Given the description of an element on the screen output the (x, y) to click on. 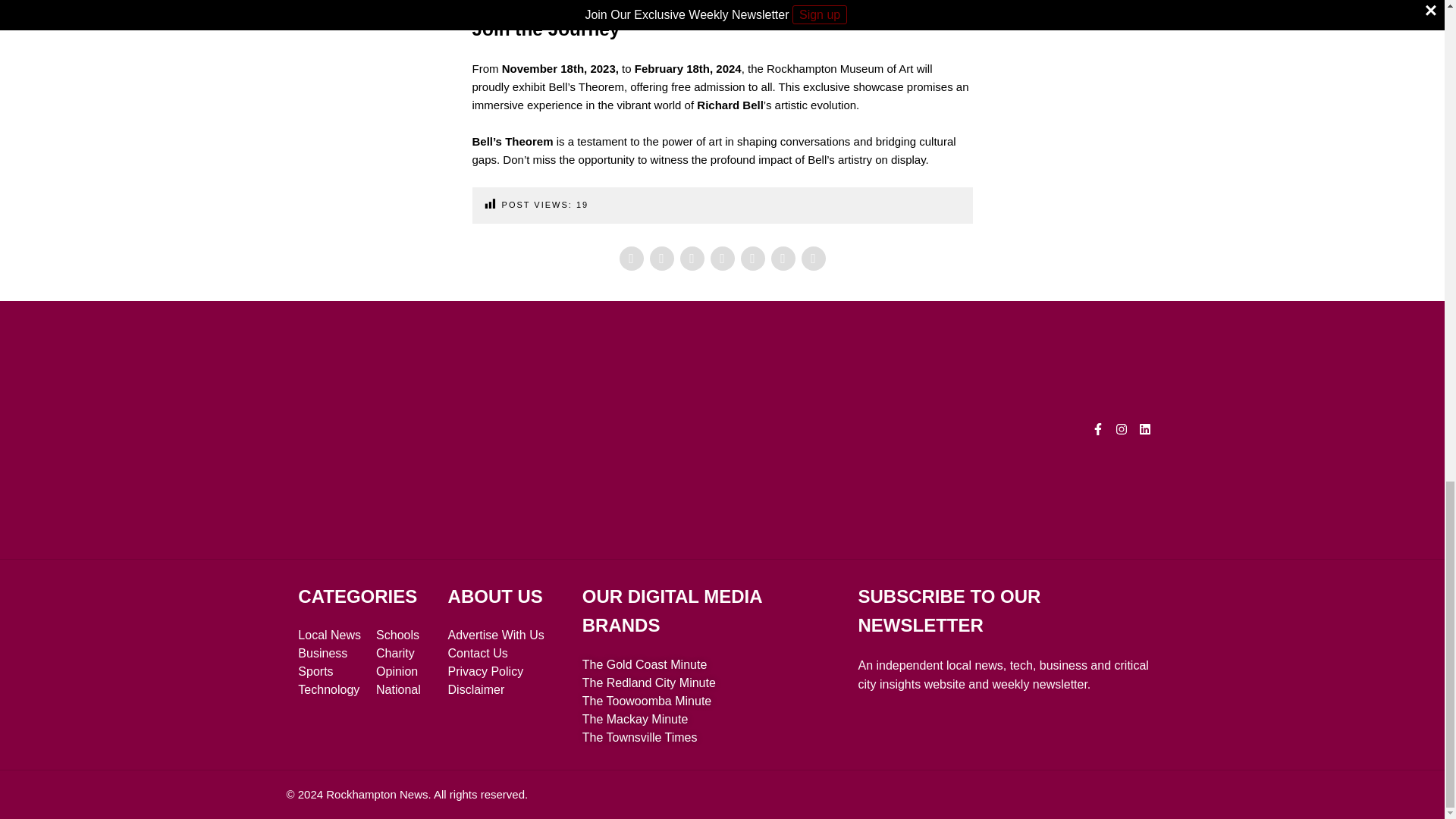
Pinterest (691, 258)
Twitter (660, 258)
Linkedin (721, 258)
Email (812, 258)
Facebook (630, 258)
Reddit (782, 258)
Whatsapp (751, 258)
